Given the description of an element on the screen output the (x, y) to click on. 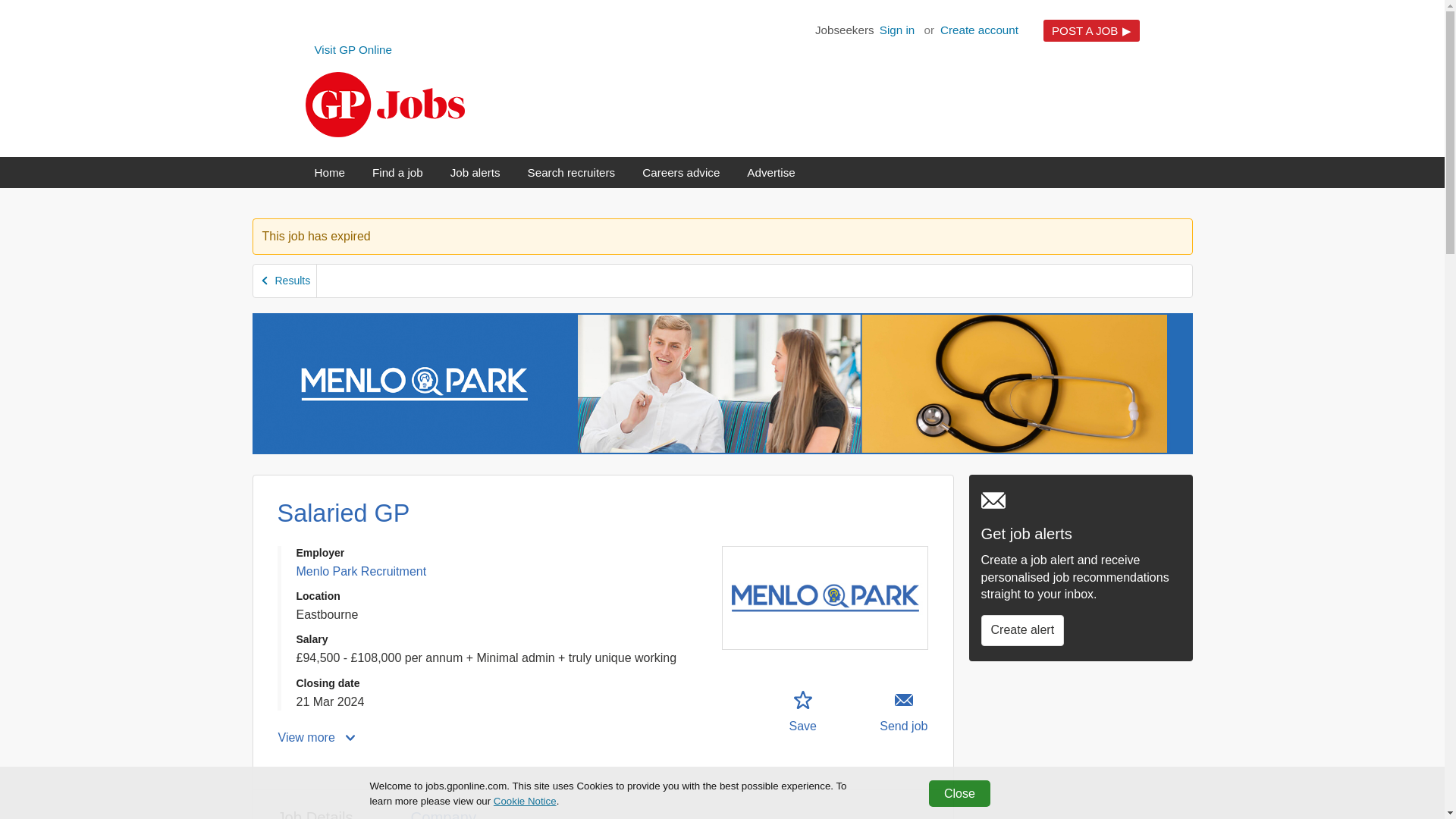
Careers advice (680, 172)
GP Jobs (384, 104)
Sign in (897, 29)
Advertise (770, 172)
Company (802, 712)
Home (445, 804)
Menlo Park Recruitment (329, 172)
POST A JOB (360, 571)
Visit GP Online (1091, 30)
Find a job (352, 49)
Job Details (397, 172)
Search recruiters (316, 804)
Job alerts (571, 172)
Results (474, 172)
